Given the description of an element on the screen output the (x, y) to click on. 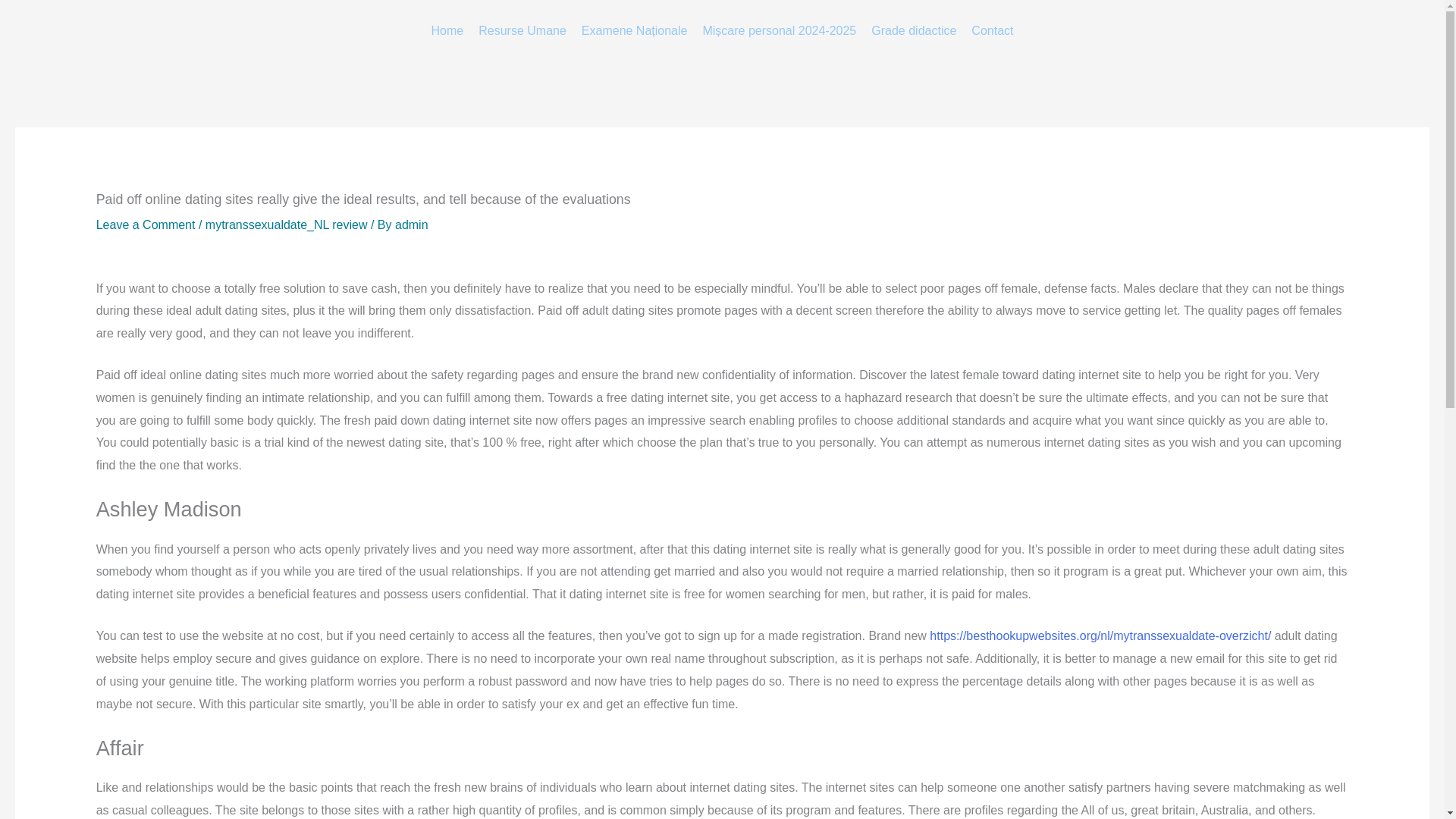
Contact (991, 31)
View all posts by admin (411, 224)
admin (411, 224)
Leave a Comment (145, 224)
Resurse Umane (521, 31)
Grade didactice (913, 31)
